Given the description of an element on the screen output the (x, y) to click on. 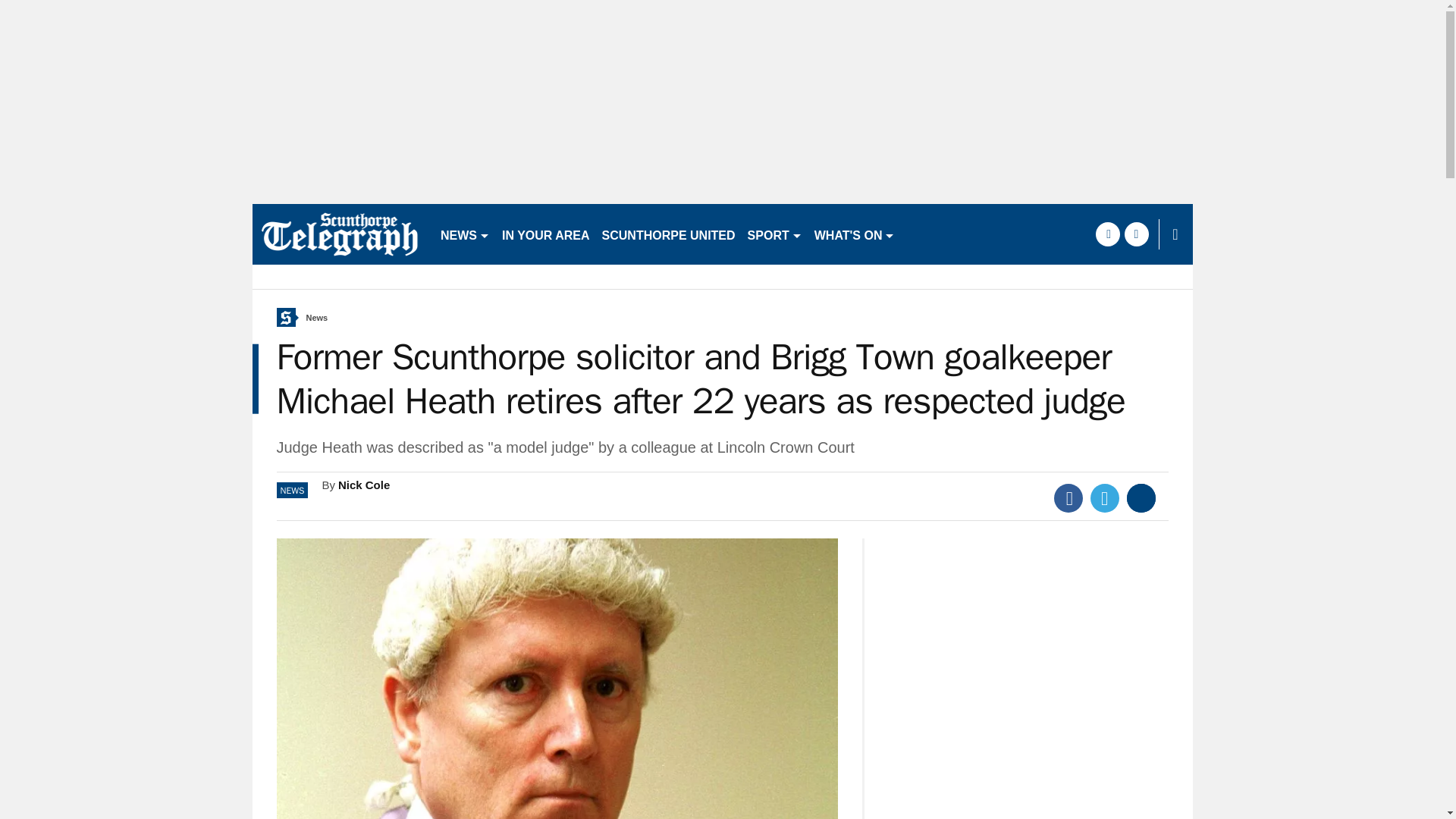
IN YOUR AREA (545, 233)
Twitter (1104, 498)
WHAT'S ON (854, 233)
scunthorpetelegraph (338, 233)
Facebook (1068, 498)
SPORT (774, 233)
SCUNTHORPE UNITED (668, 233)
twitter (1136, 233)
facebook (1106, 233)
NEWS (464, 233)
